Given the description of an element on the screen output the (x, y) to click on. 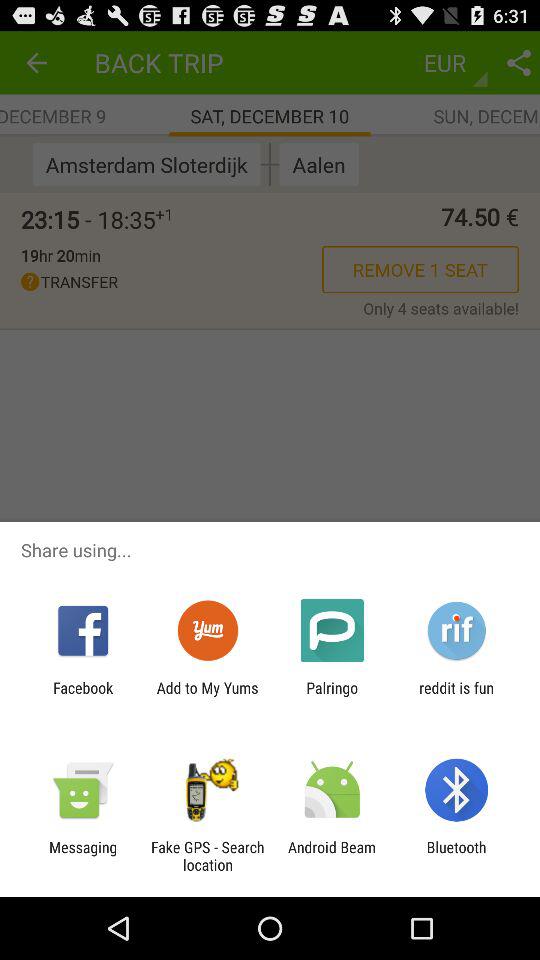
press the item next to the android beam item (456, 856)
